Given the description of an element on the screen output the (x, y) to click on. 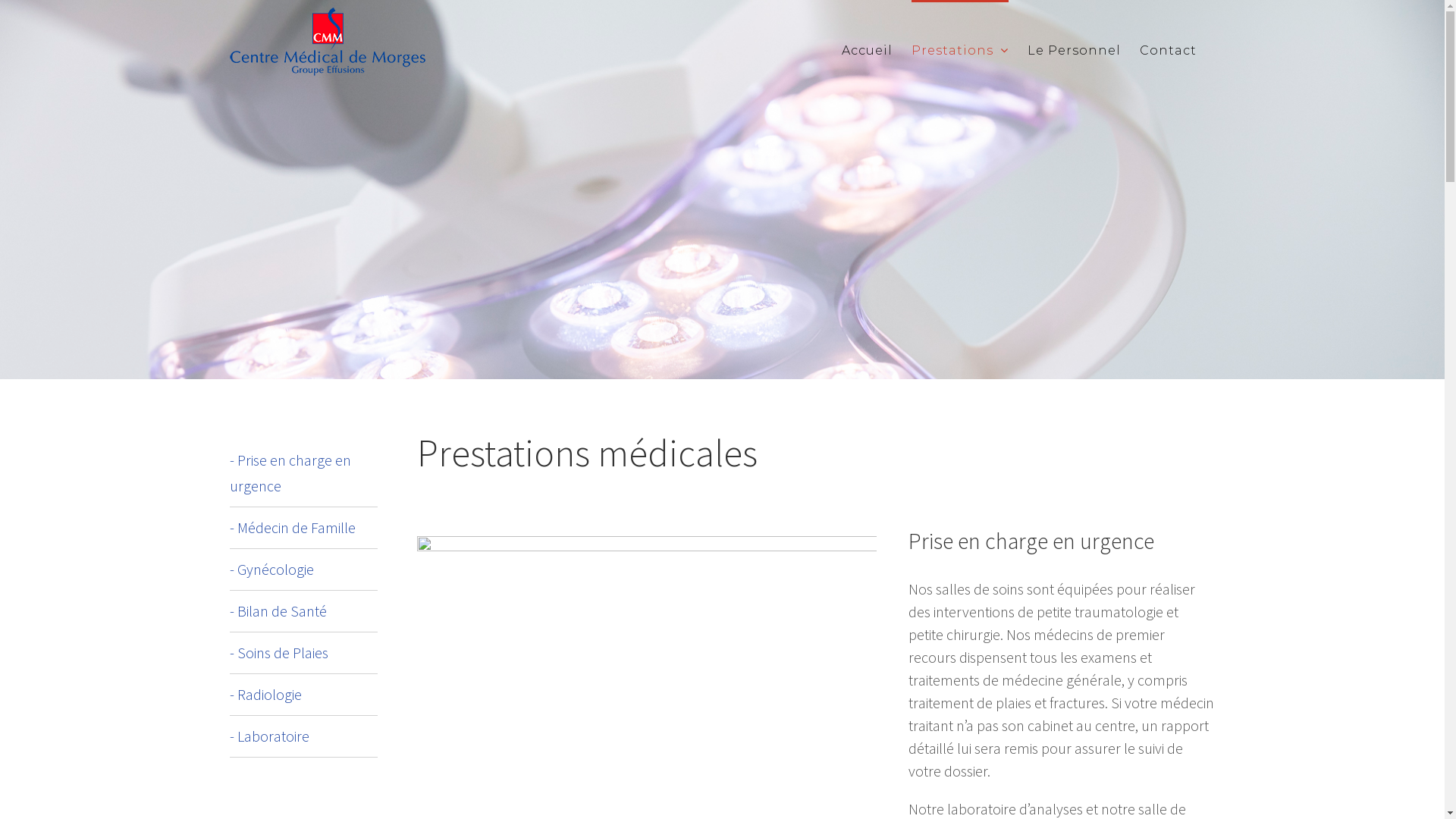
- Prise en charge en urgence Element type: text (289, 472)
- Radiologie Element type: text (265, 693)
- Laboratoire Element type: text (268, 735)
Le Personnel Element type: text (1073, 49)
- Soins de Plaies Element type: text (278, 652)
Prestations Element type: text (959, 49)
Contact Element type: text (1167, 49)
Accueil Element type: text (866, 49)
